Given the description of an element on the screen output the (x, y) to click on. 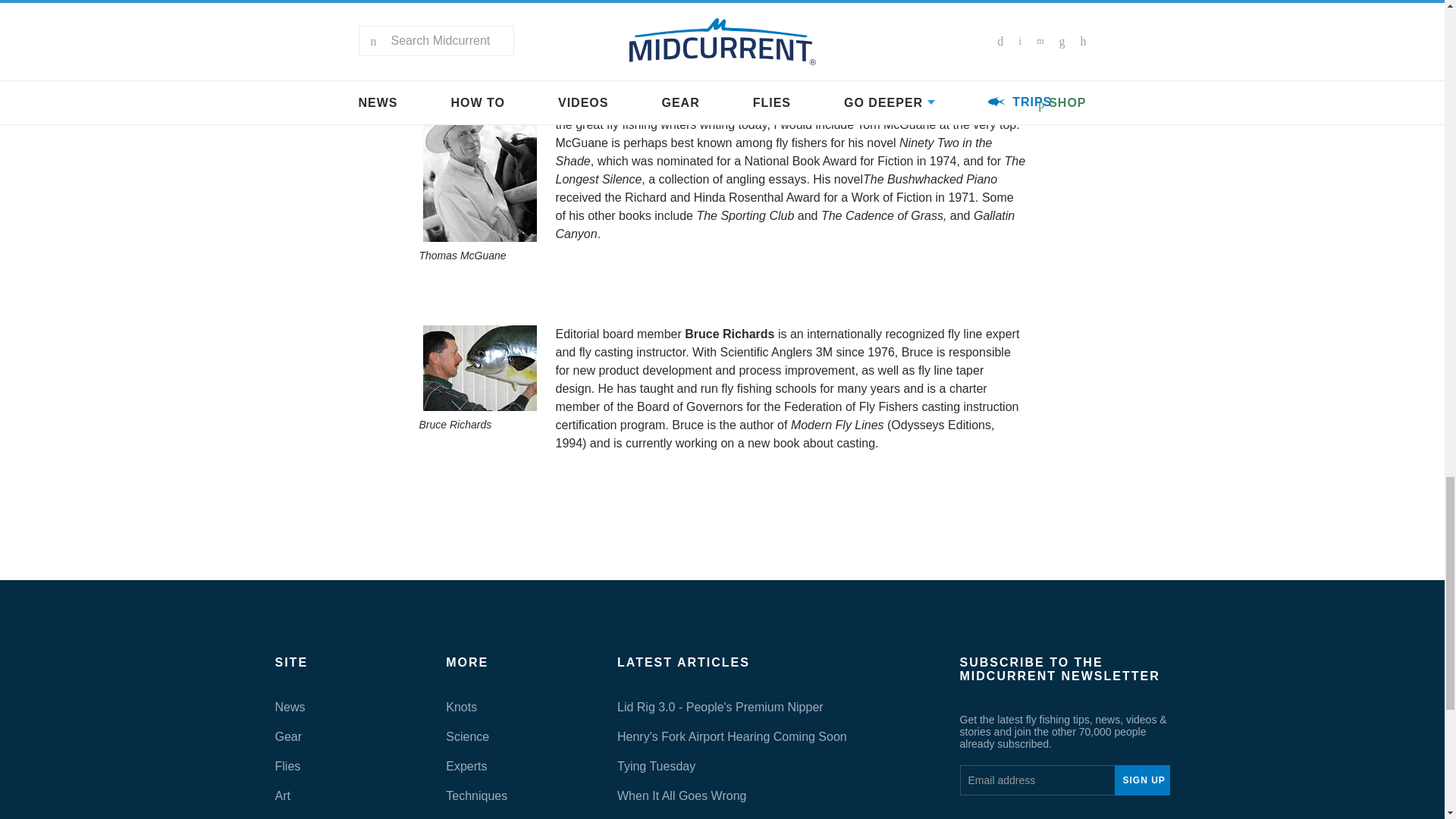
Chico Fernandez (480, 20)
Bruce Richards (480, 368)
Sign Up (1142, 779)
